Given the description of an element on the screen output the (x, y) to click on. 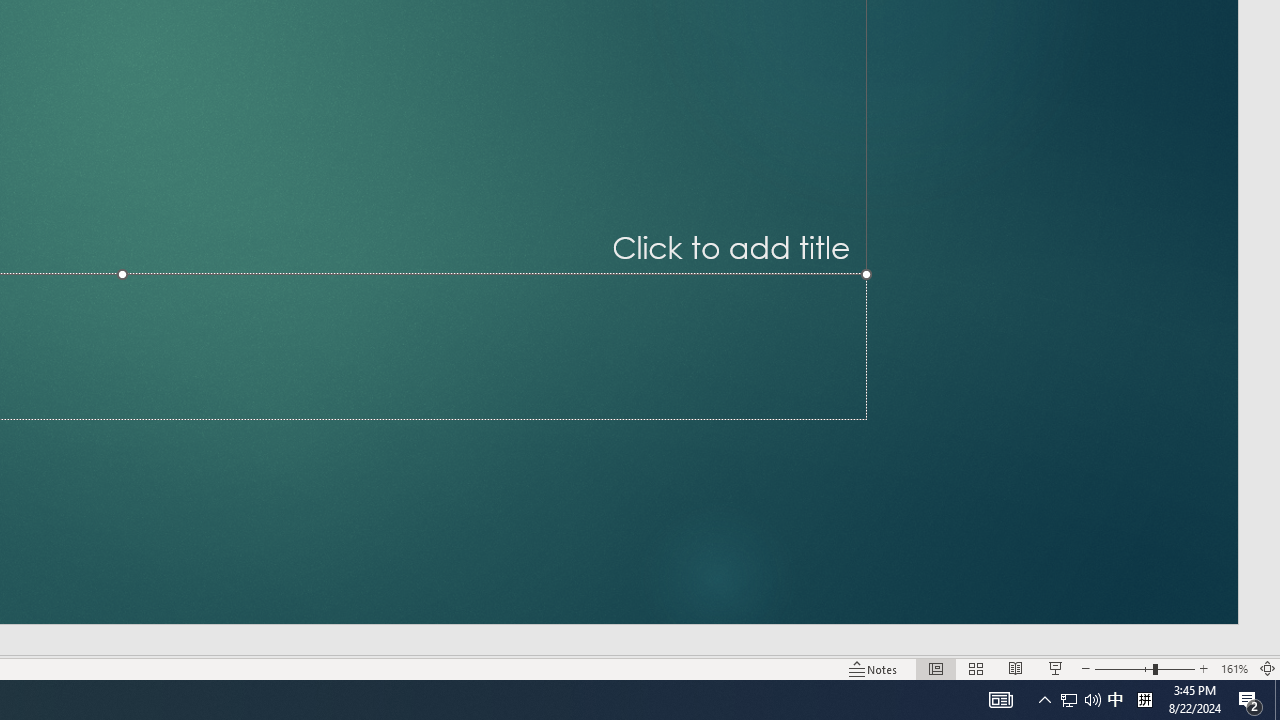
Zoom 161% (1234, 668)
